Given the description of an element on the screen output the (x, y) to click on. 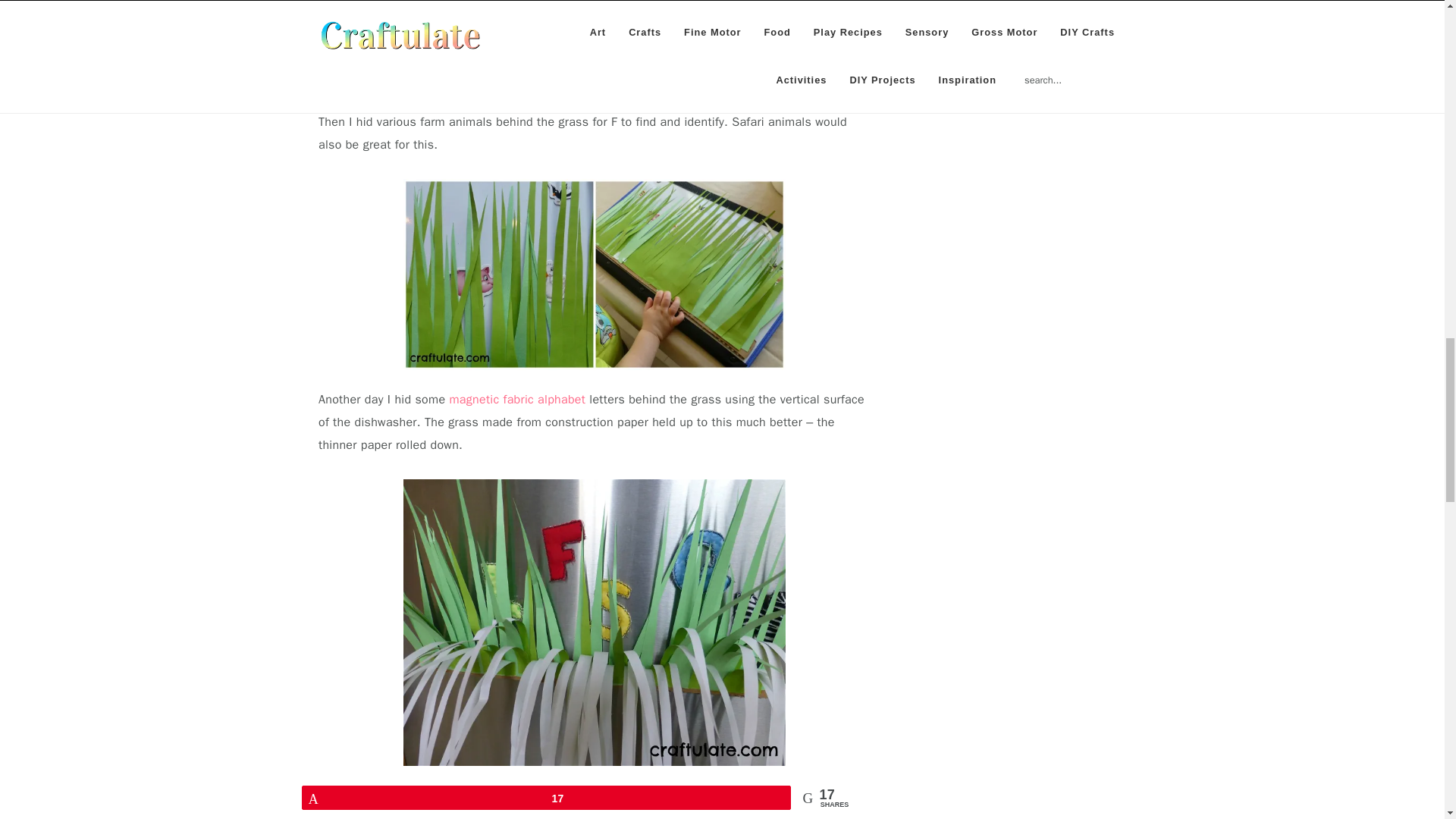
Magnetic Fabric Alphabet (516, 399)
